Given the description of an element on the screen output the (x, y) to click on. 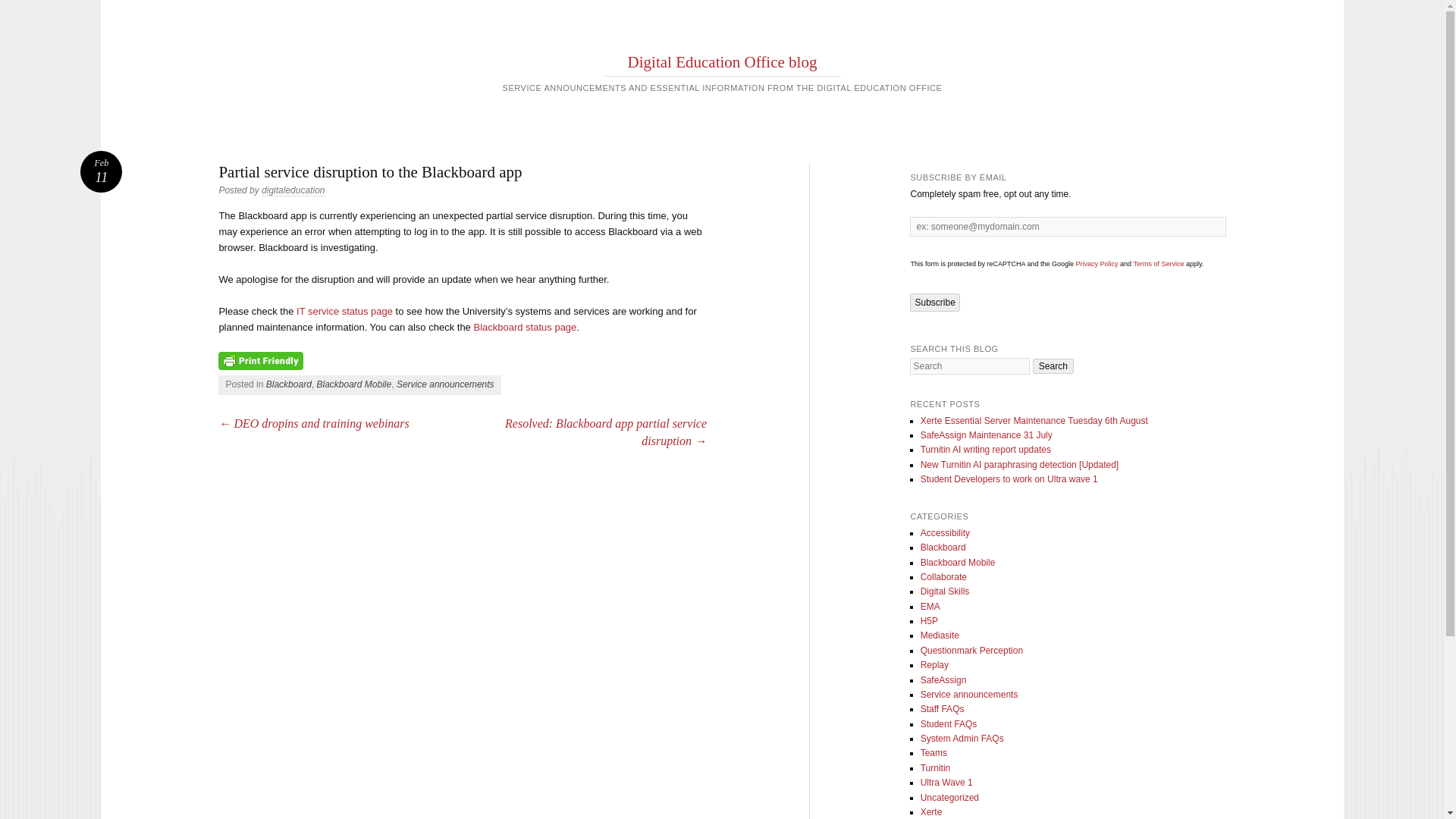
Replay (934, 665)
Blackboard status page (524, 326)
digitaleducation (293, 190)
H5P (928, 620)
SafeAssign Maintenance 31 July (986, 434)
Digital Education Office blog (721, 62)
Staff FAQs (941, 708)
Service announcements (445, 384)
Accessibility (944, 532)
Blackboard Mobile (353, 384)
Digital Skills (944, 591)
EMA (930, 606)
Digital Education Office blog (721, 62)
Terms of Service (1157, 263)
